Given the description of an element on the screen output the (x, y) to click on. 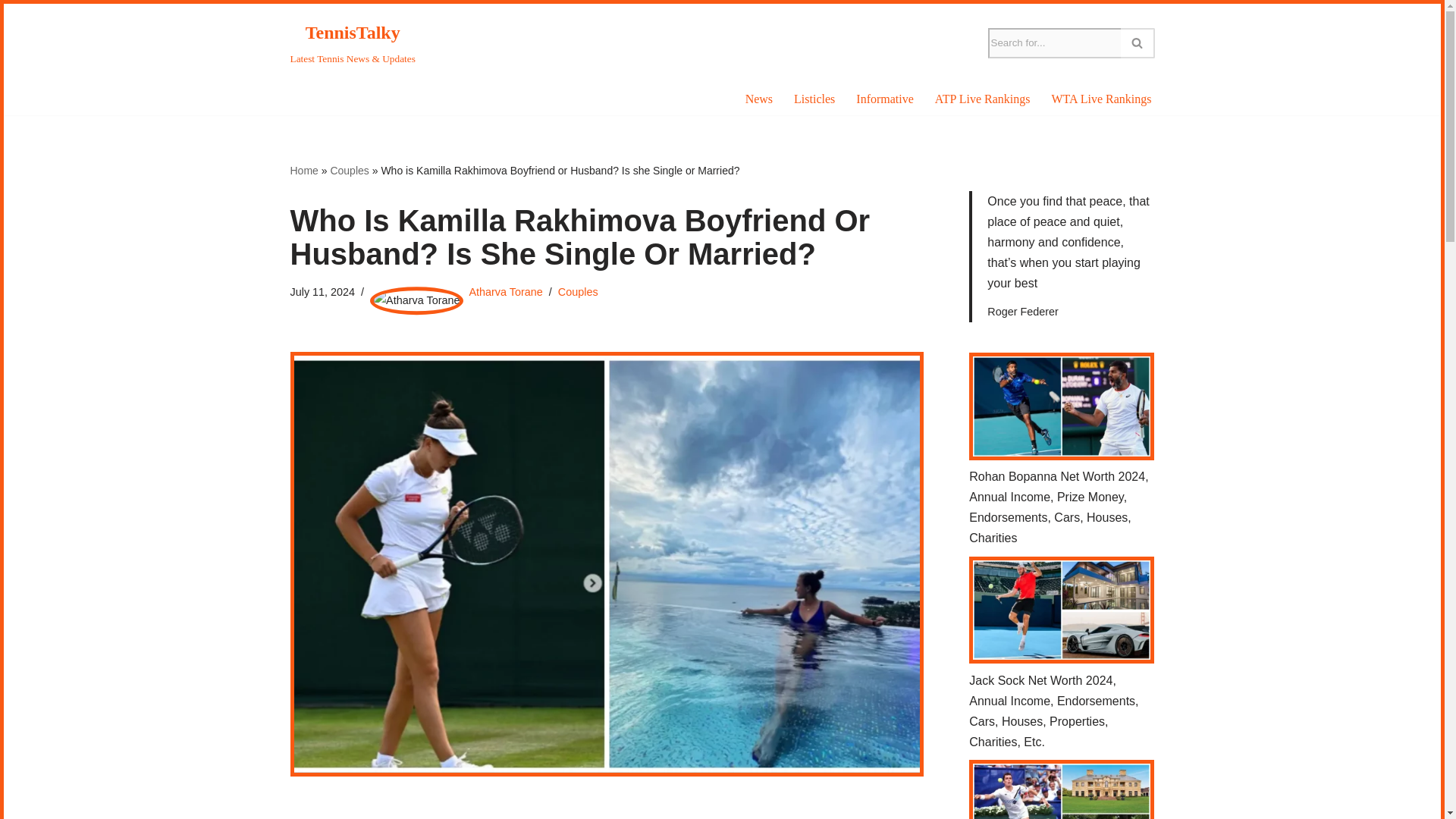
News (759, 98)
ATP Live Rankings (982, 98)
Listicles (813, 98)
WTA Live Rankings (1101, 98)
Informative (885, 98)
Atharva Torane (504, 291)
Home (303, 170)
Skip to content (15, 35)
Couples (349, 170)
Posts by Atharva Torane (504, 291)
Couples (577, 291)
